Given the description of an element on the screen output the (x, y) to click on. 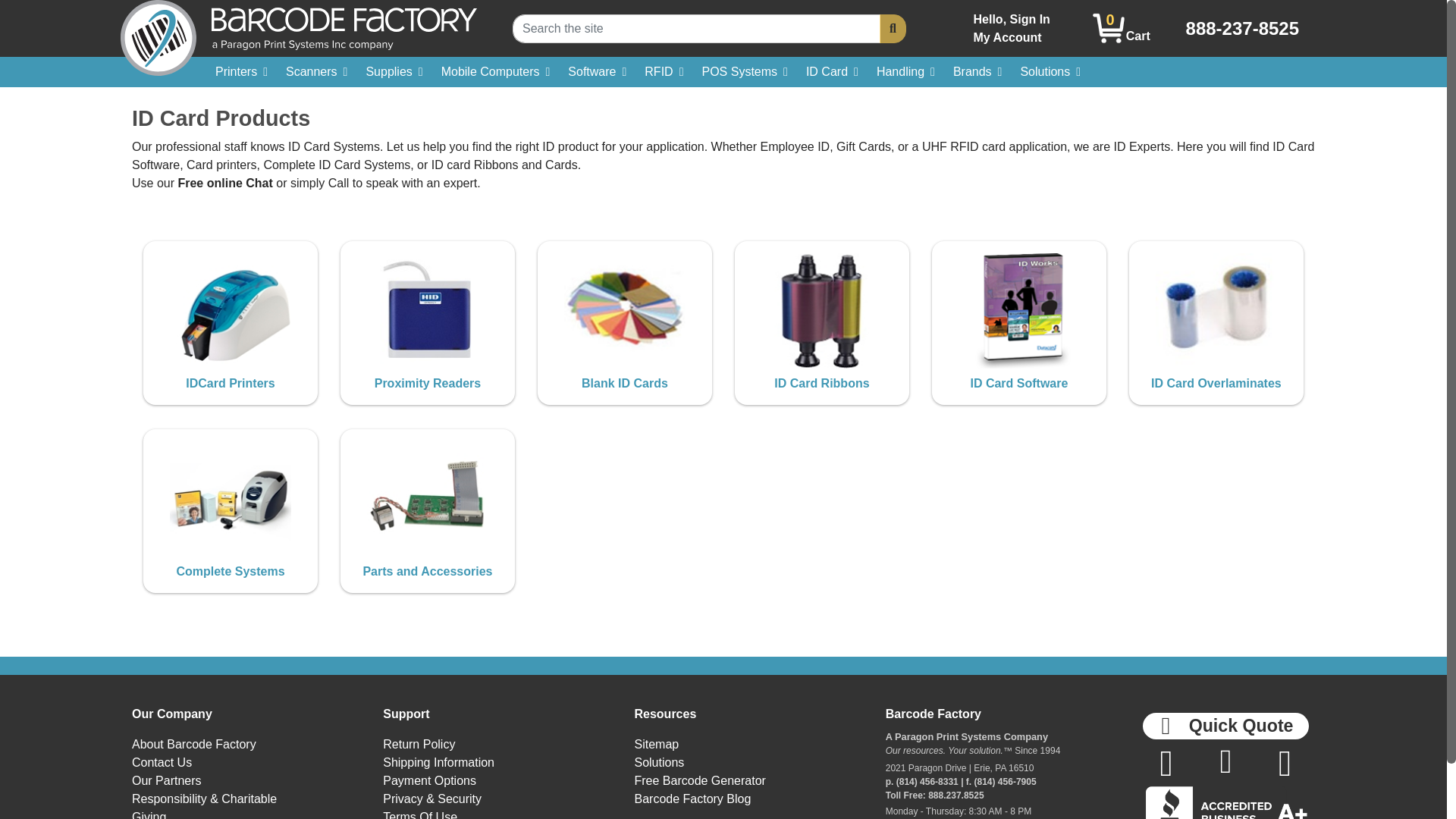
Shopping Cart (1108, 28)
Sign In account (1012, 28)
Printers (1121, 27)
Shopping Cart (1012, 28)
